Given the description of an element on the screen output the (x, y) to click on. 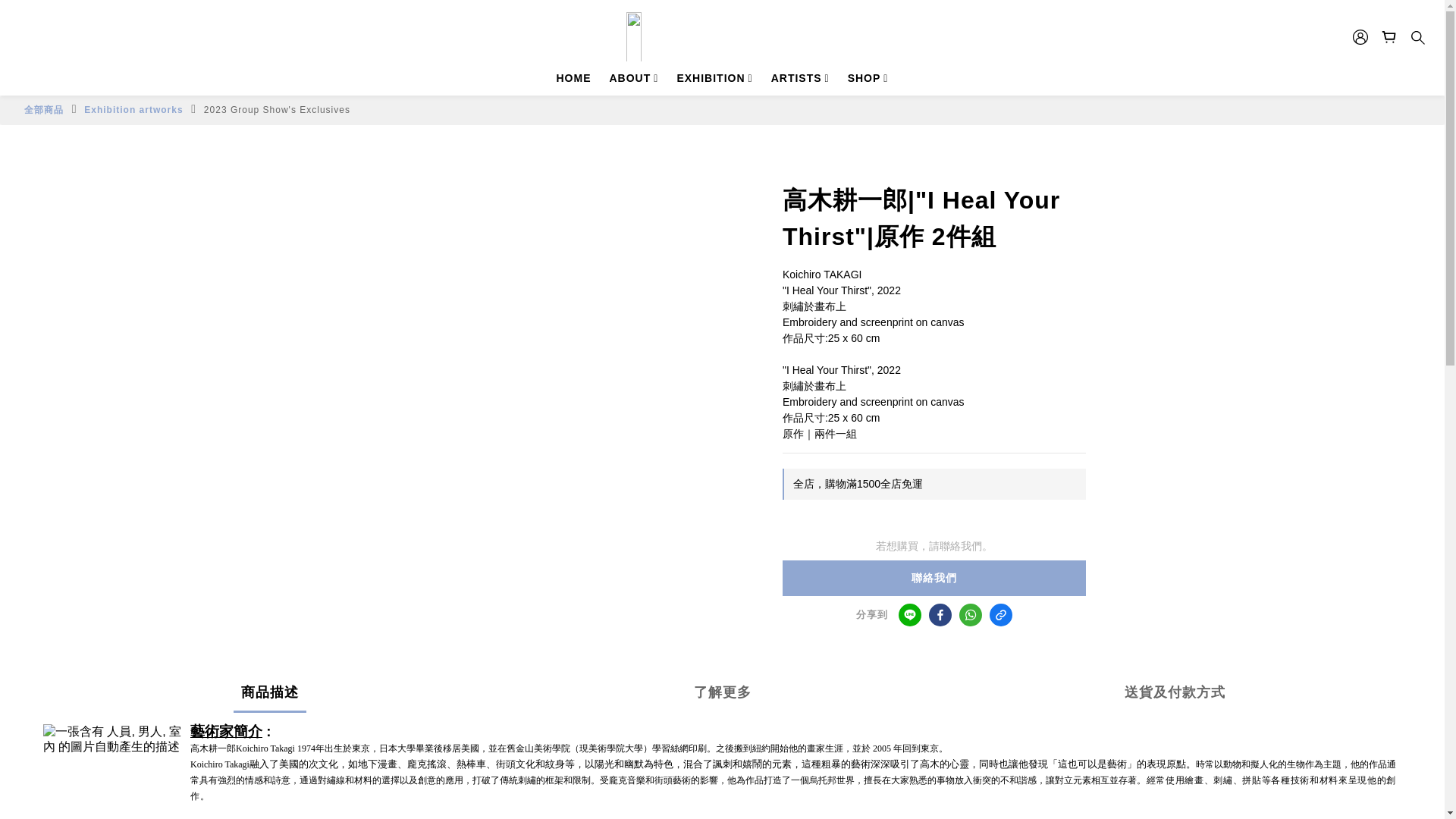
facebook (940, 614)
ARTISTS (800, 78)
EXHIBITION (714, 78)
line (909, 614)
ABOUT (634, 78)
whatsapp (970, 614)
HOME (573, 78)
copy link (1000, 614)
